Given the description of an element on the screen output the (x, y) to click on. 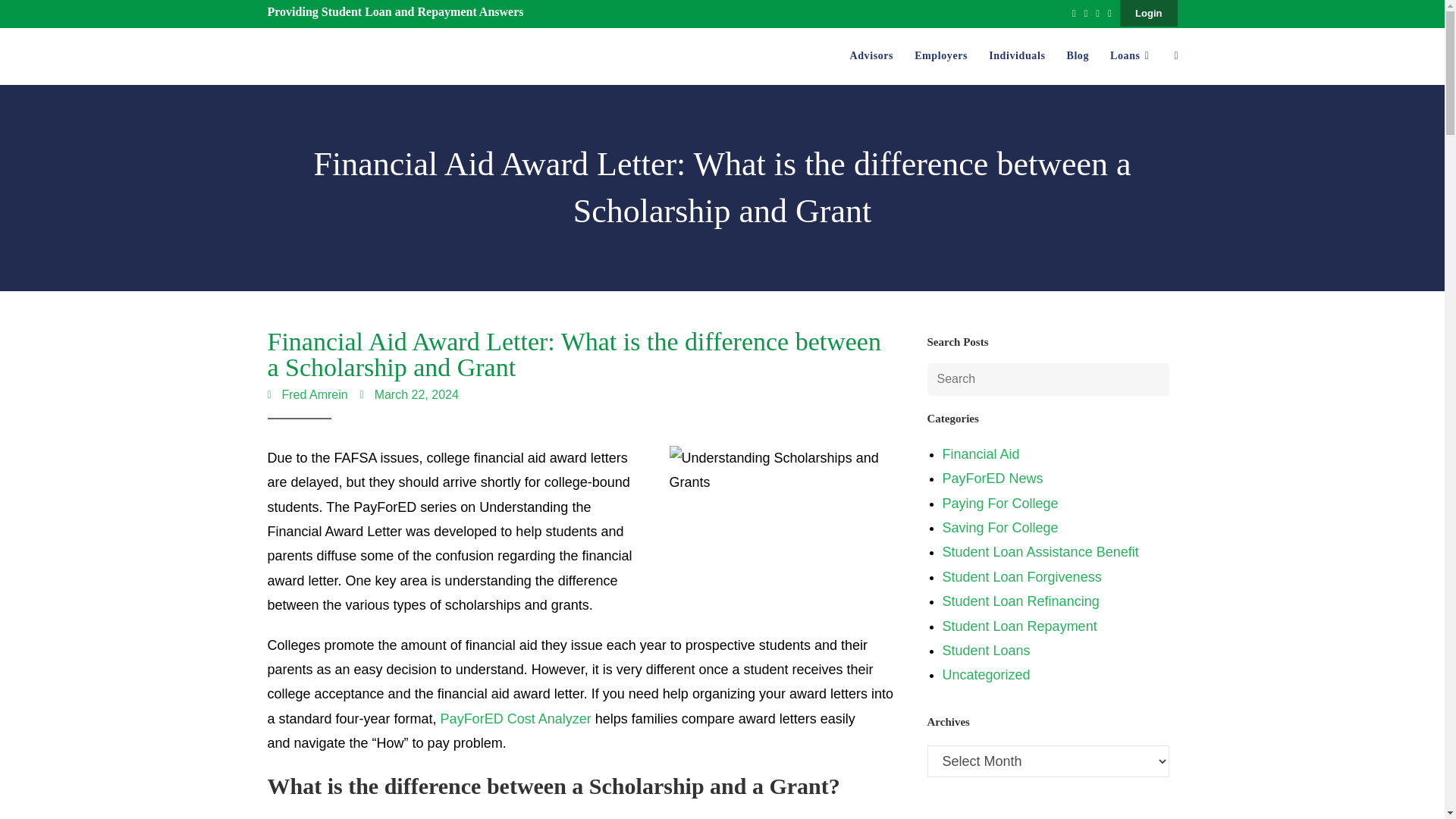
Employers (941, 55)
Advisors (871, 55)
Login (1147, 13)
March 22, 2024 (408, 395)
PayForED Cost Analyzer (516, 718)
Loans (1131, 55)
Individuals (1016, 55)
Fred Amrein (306, 395)
